Given the description of an element on the screen output the (x, y) to click on. 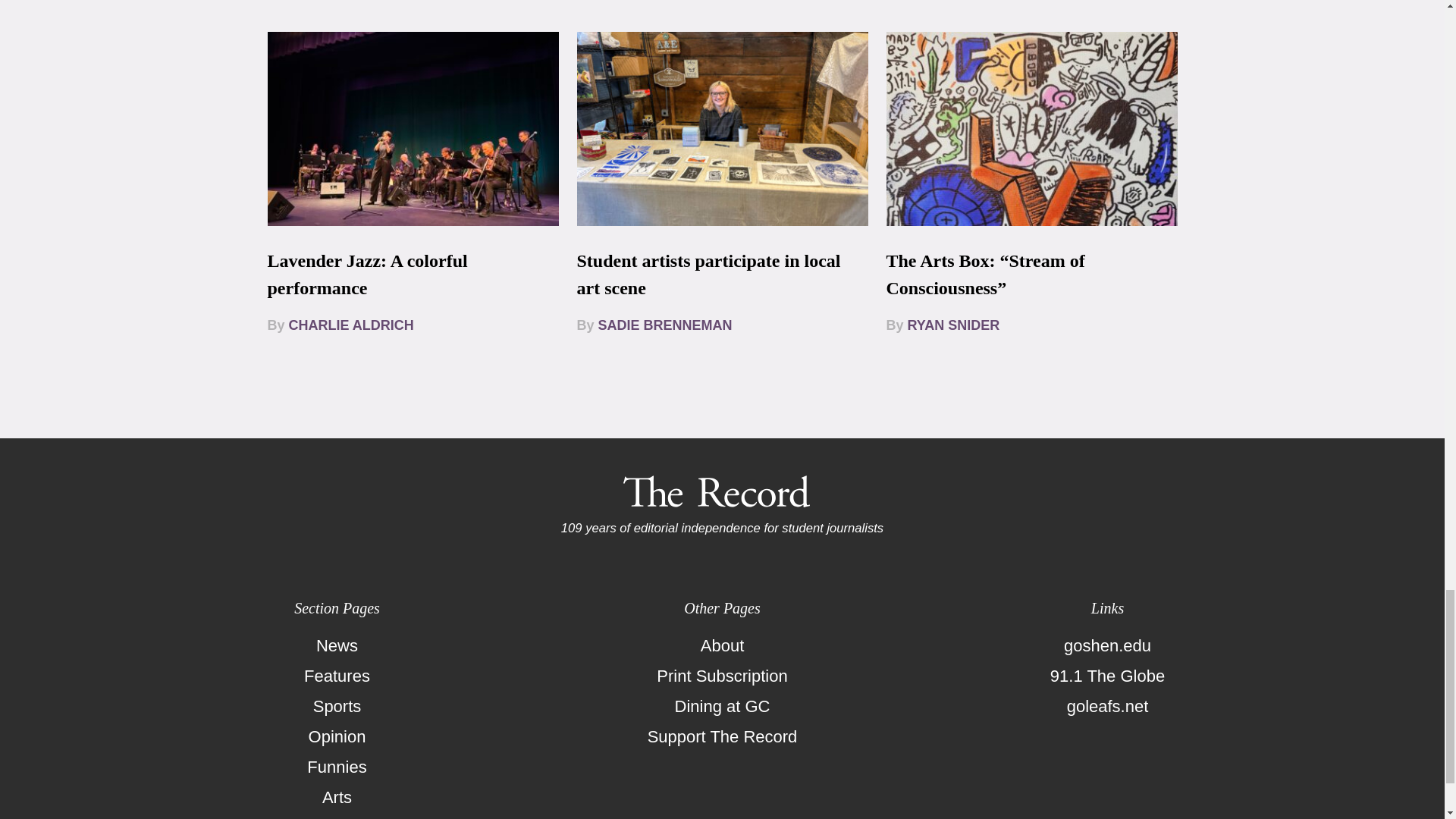
News (336, 645)
Lavender Jazz: A colorful performance (366, 274)
Features (336, 675)
CHARLIE ALDRICH (350, 324)
Print Subscription (722, 675)
Funnies (336, 767)
Sports (336, 706)
RYAN SNIDER (953, 324)
About (722, 645)
Opinion (336, 736)
SADIE BRENNEMAN (665, 324)
Arts (336, 797)
Student artists participate in local art scene (708, 274)
